Given the description of an element on the screen output the (x, y) to click on. 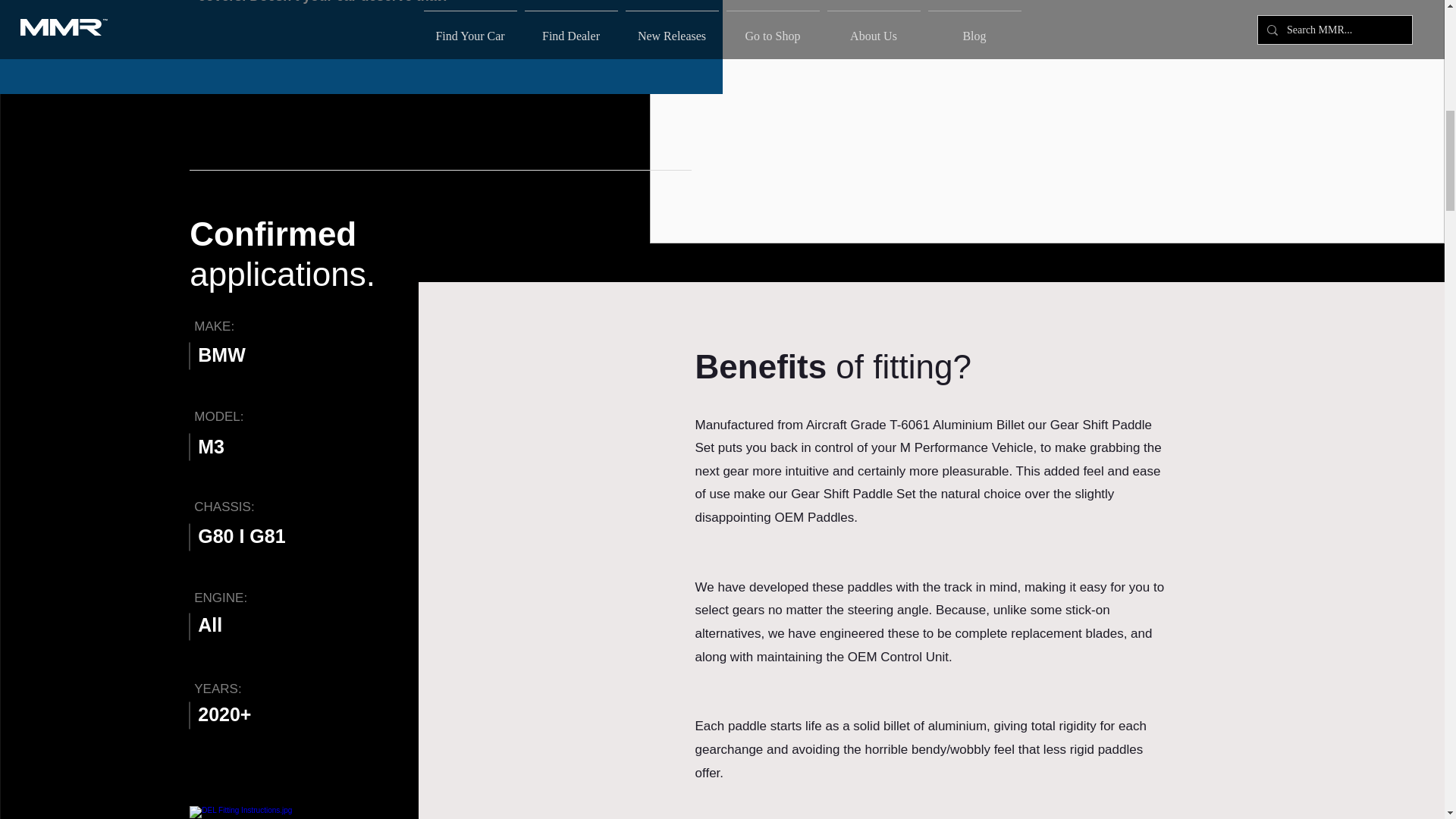
Fitting Video Icon.png (272, 812)
